Given the description of an element on the screen output the (x, y) to click on. 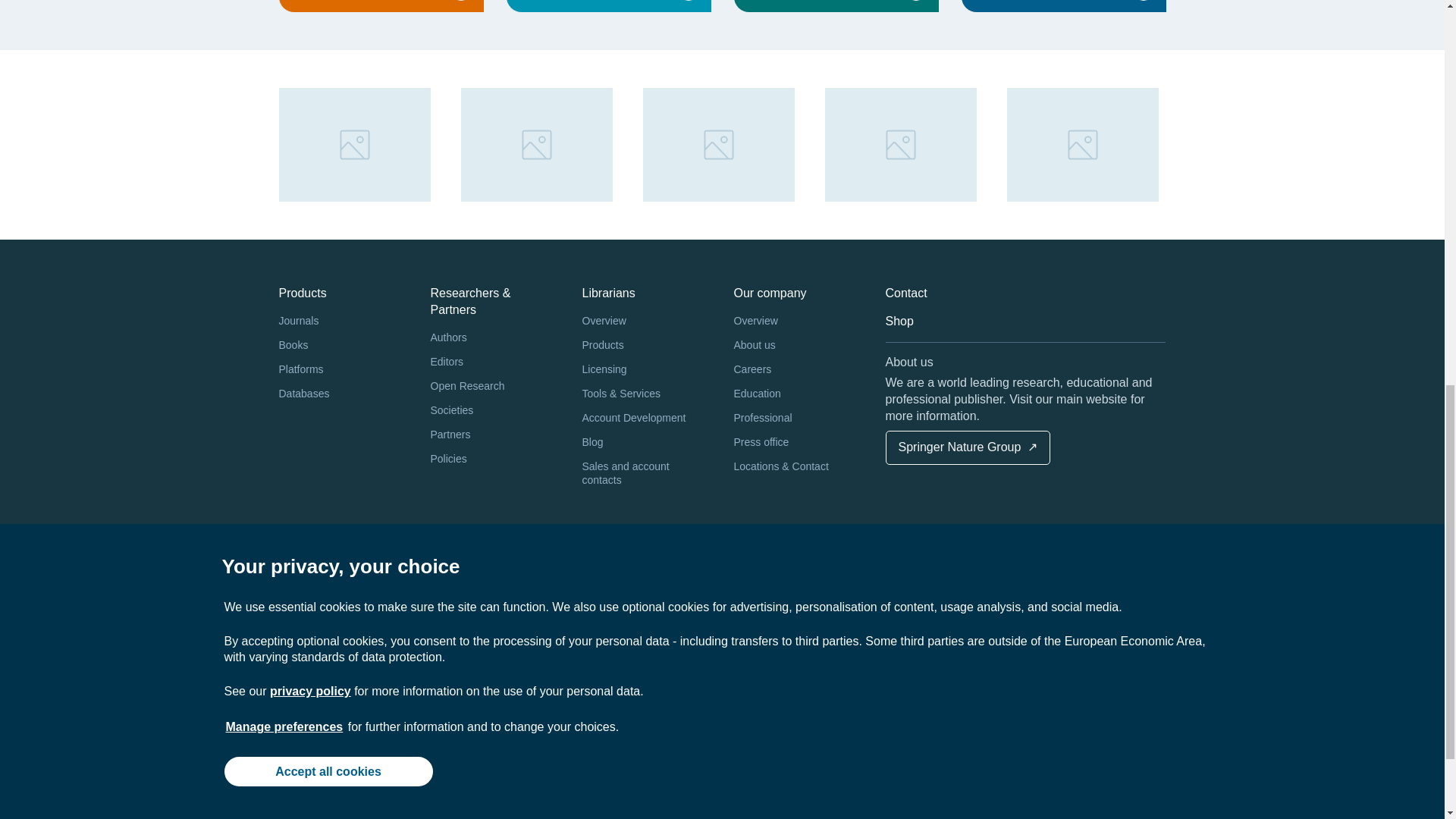
Open access books (381, 6)
Translation services (836, 6)
Customer support (608, 6)
Book author services (1063, 6)
